Given the description of an element on the screen output the (x, y) to click on. 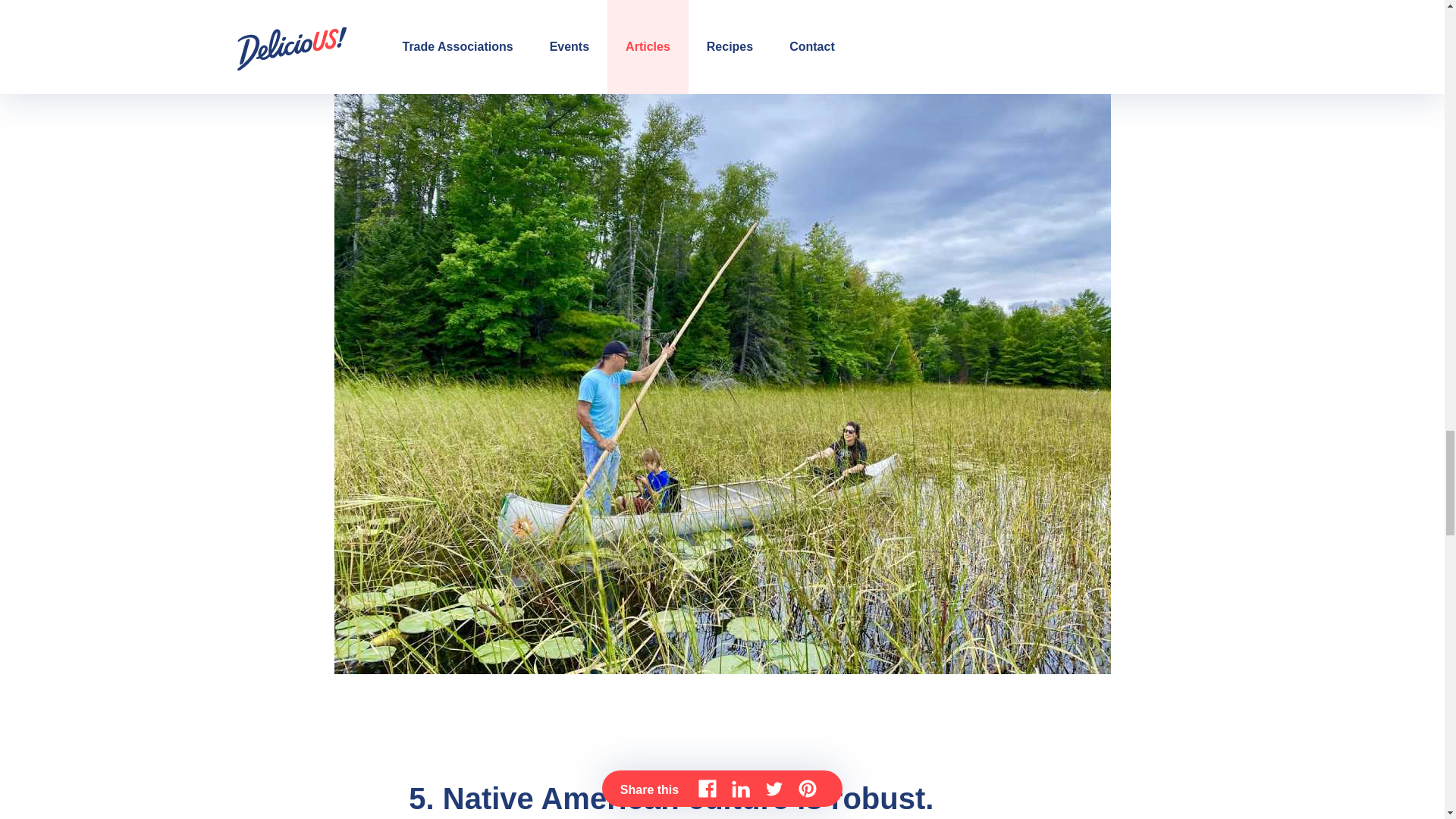
all find their roots in Native American design (679, 2)
